Given the description of an element on the screen output the (x, y) to click on. 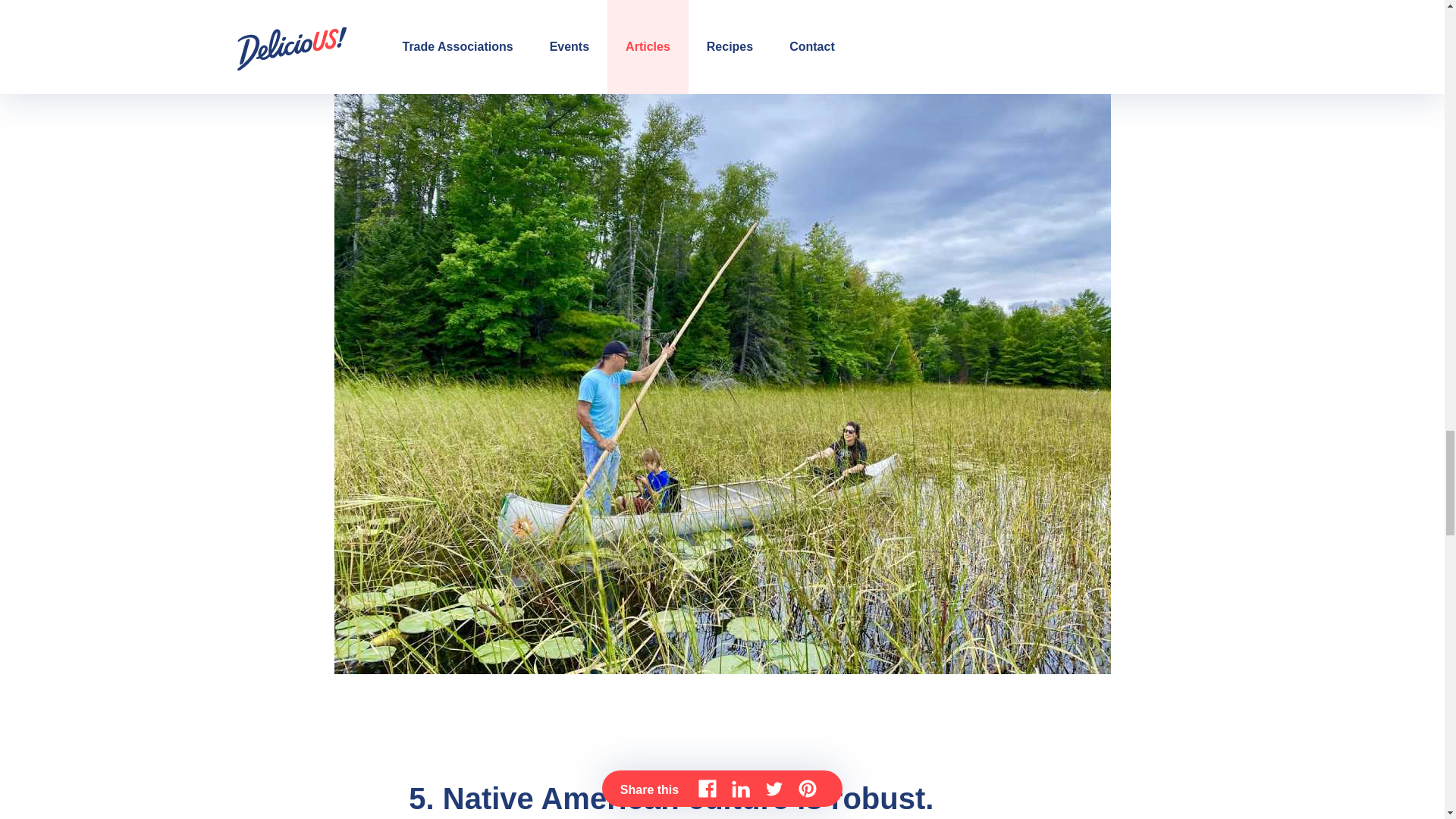
all find their roots in Native American design (679, 2)
